Given the description of an element on the screen output the (x, y) to click on. 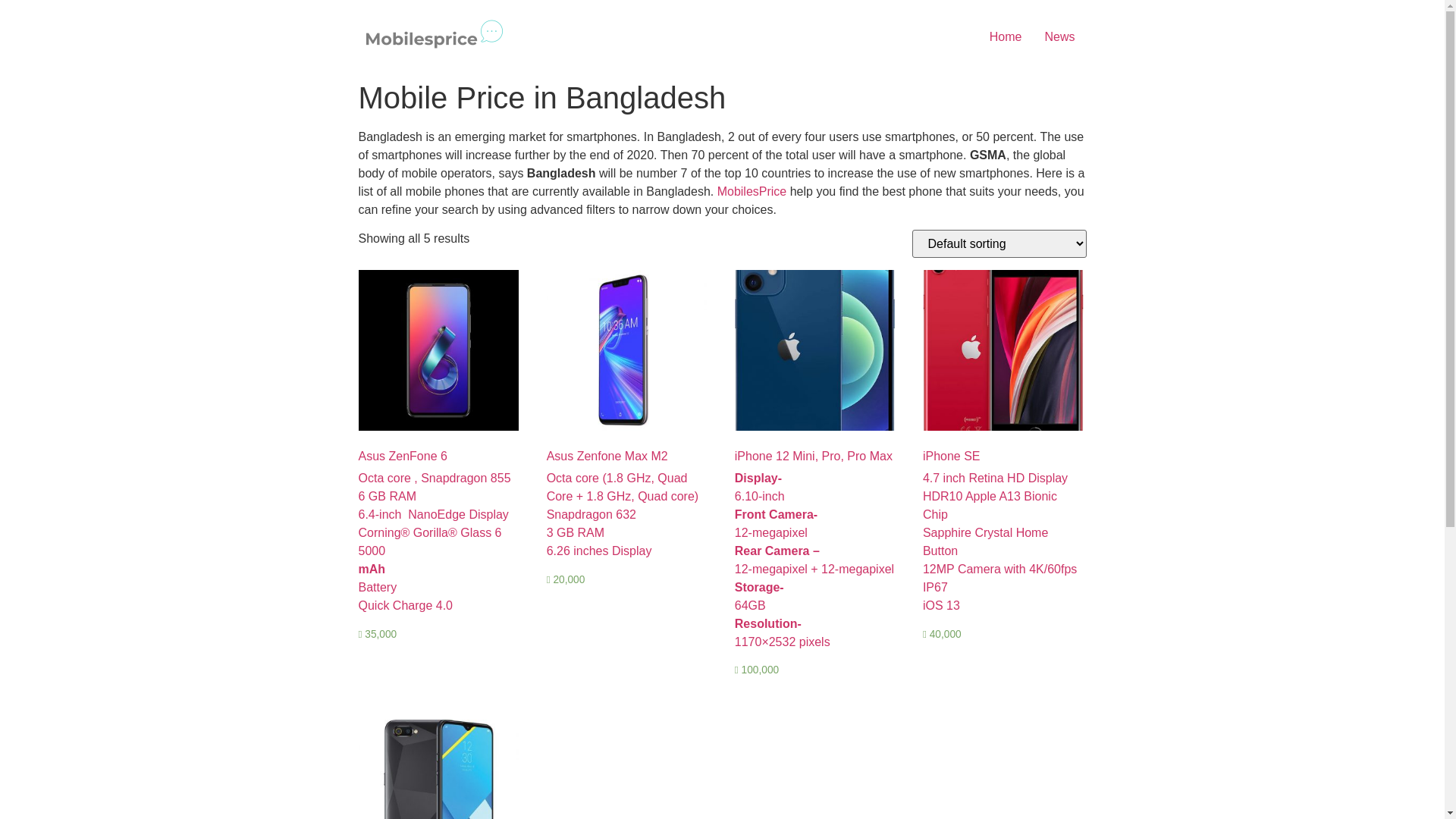
MobilesPrice Element type: text (752, 191)
News Element type: text (1058, 36)
Home Element type: text (1005, 36)
